Given the description of an element on the screen output the (x, y) to click on. 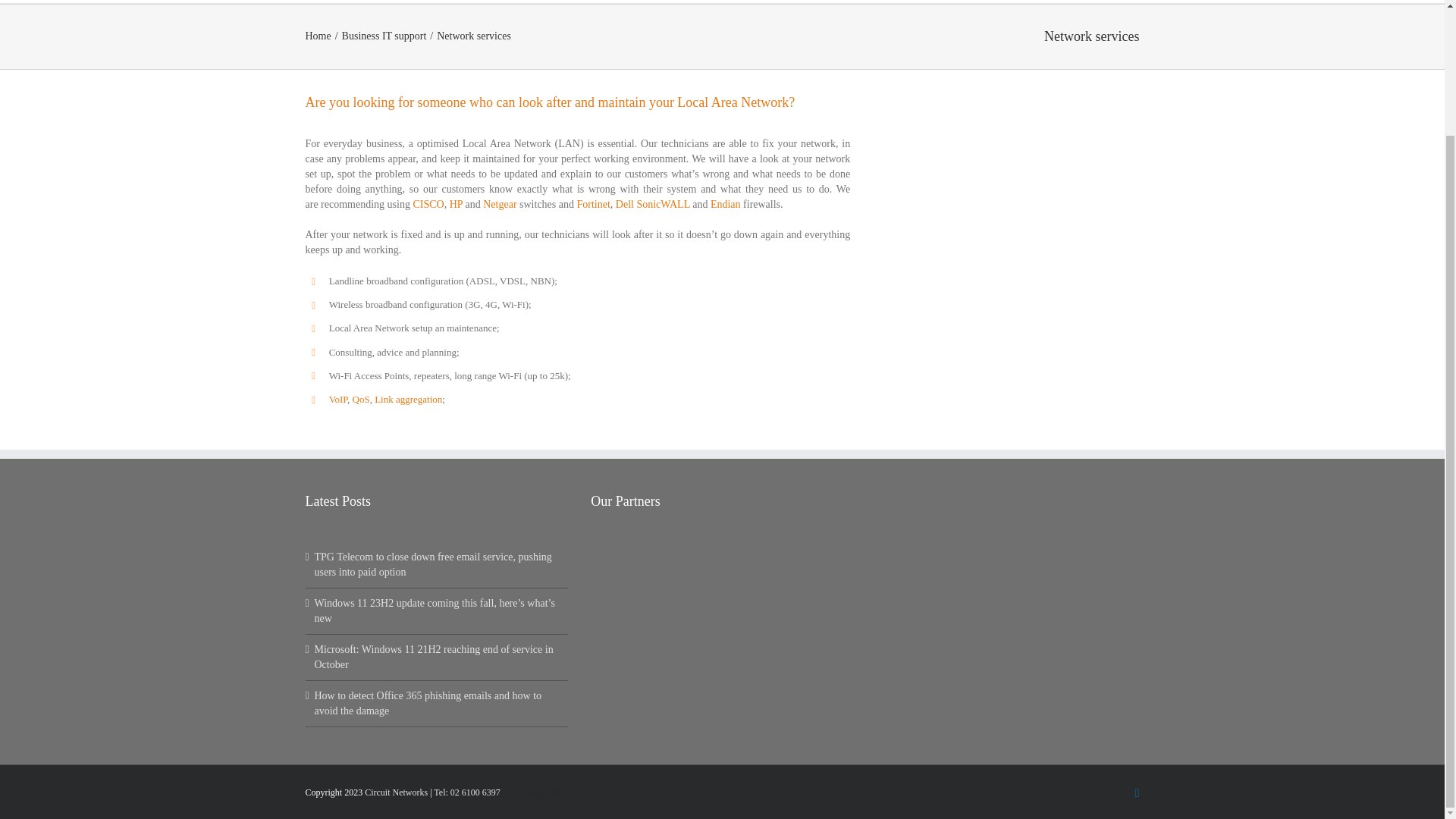
Fortinet (593, 204)
Business IT support (384, 35)
Circuit Networks (396, 792)
Home (317, 35)
Home (515, 1)
Dell SonicWALL (652, 204)
Business IT support (598, 1)
QoS (360, 398)
VoIP (338, 398)
CISCO (428, 204)
